Given the description of an element on the screen output the (x, y) to click on. 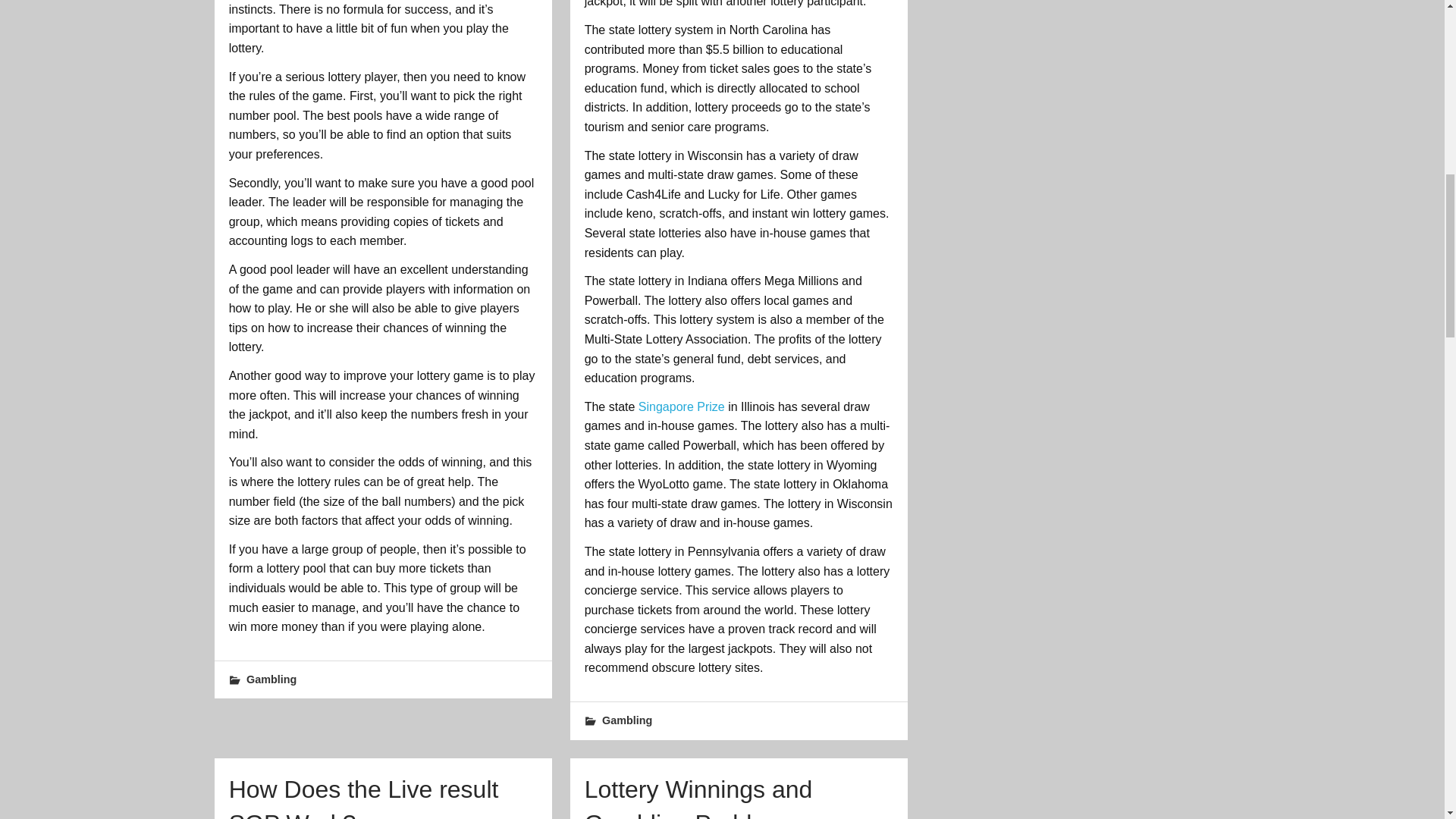
How Does the Live result SGP Work? (363, 797)
Lottery Winnings and Gambling Problems (698, 797)
Gambling (271, 679)
Gambling (627, 720)
Singapore Prize (682, 406)
